Given the description of an element on the screen output the (x, y) to click on. 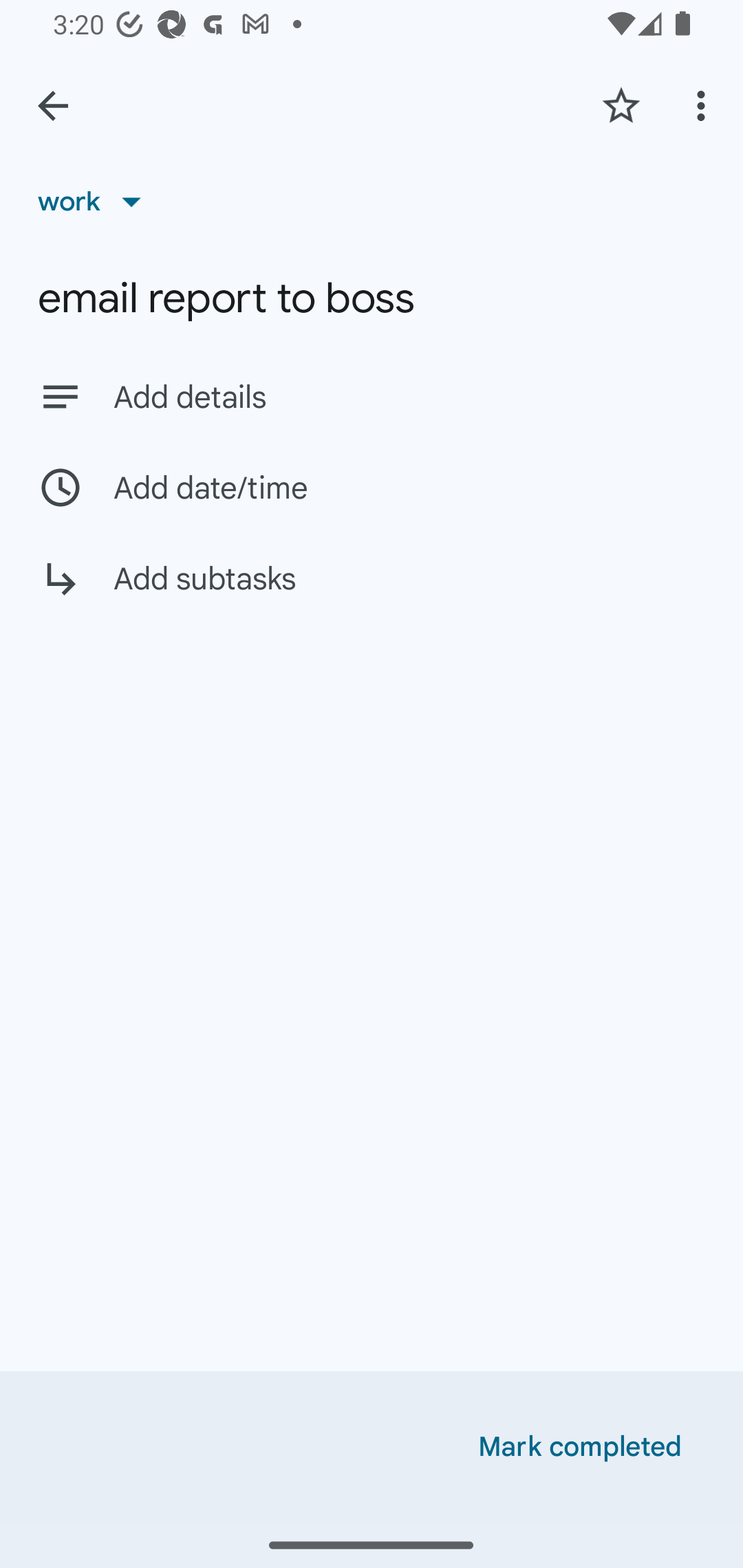
Back (53, 105)
Add star (620, 105)
More options (704, 105)
work List, work selected, 1 of 4 (95, 201)
email report to boss (371, 298)
Add details (371, 396)
Add details (409, 397)
Add date/time (371, 487)
Add subtasks (371, 593)
Mark completed (580, 1446)
